Given the description of an element on the screen output the (x, y) to click on. 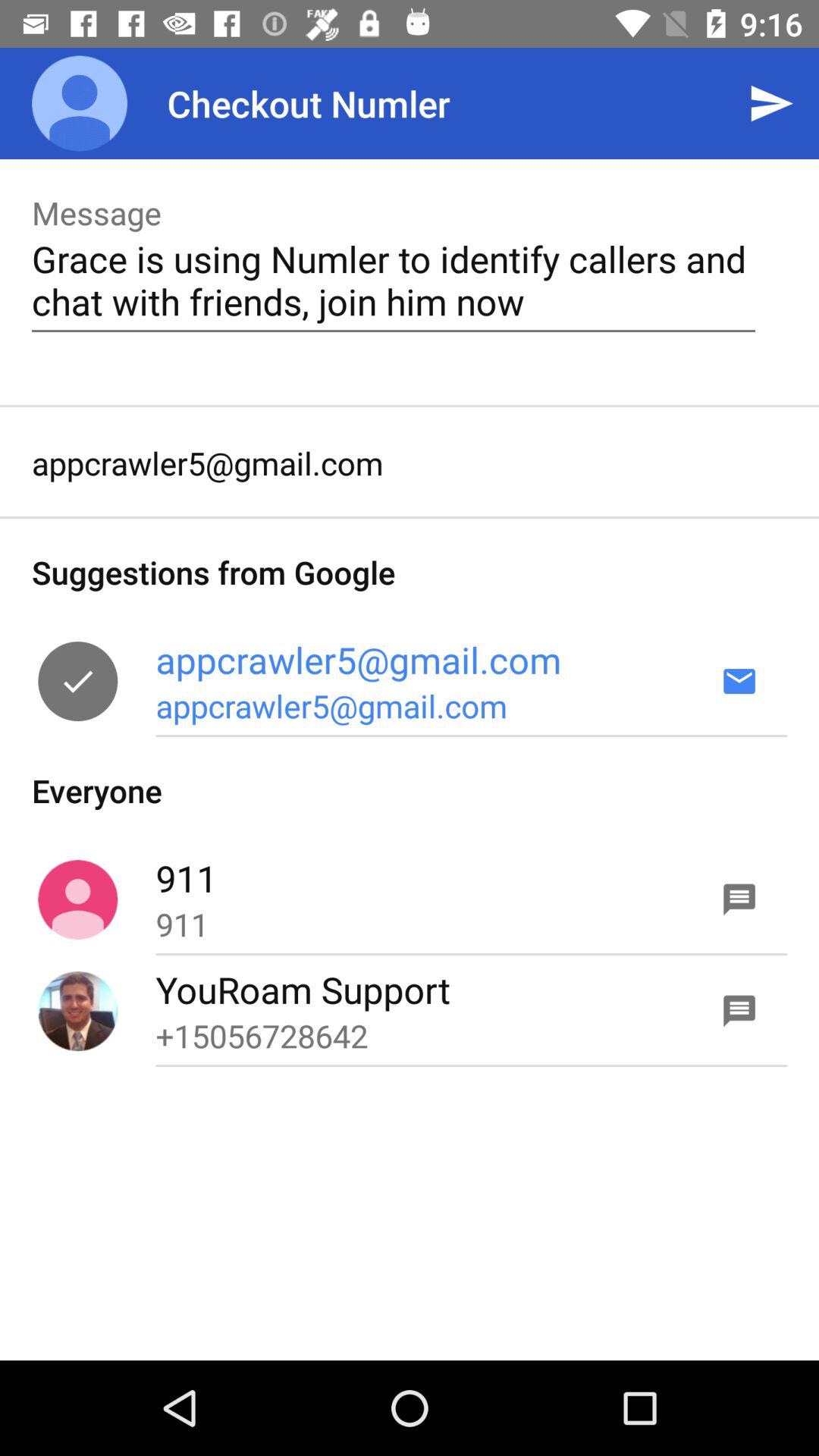
click icon at the top right corner (771, 103)
